Given the description of an element on the screen output the (x, y) to click on. 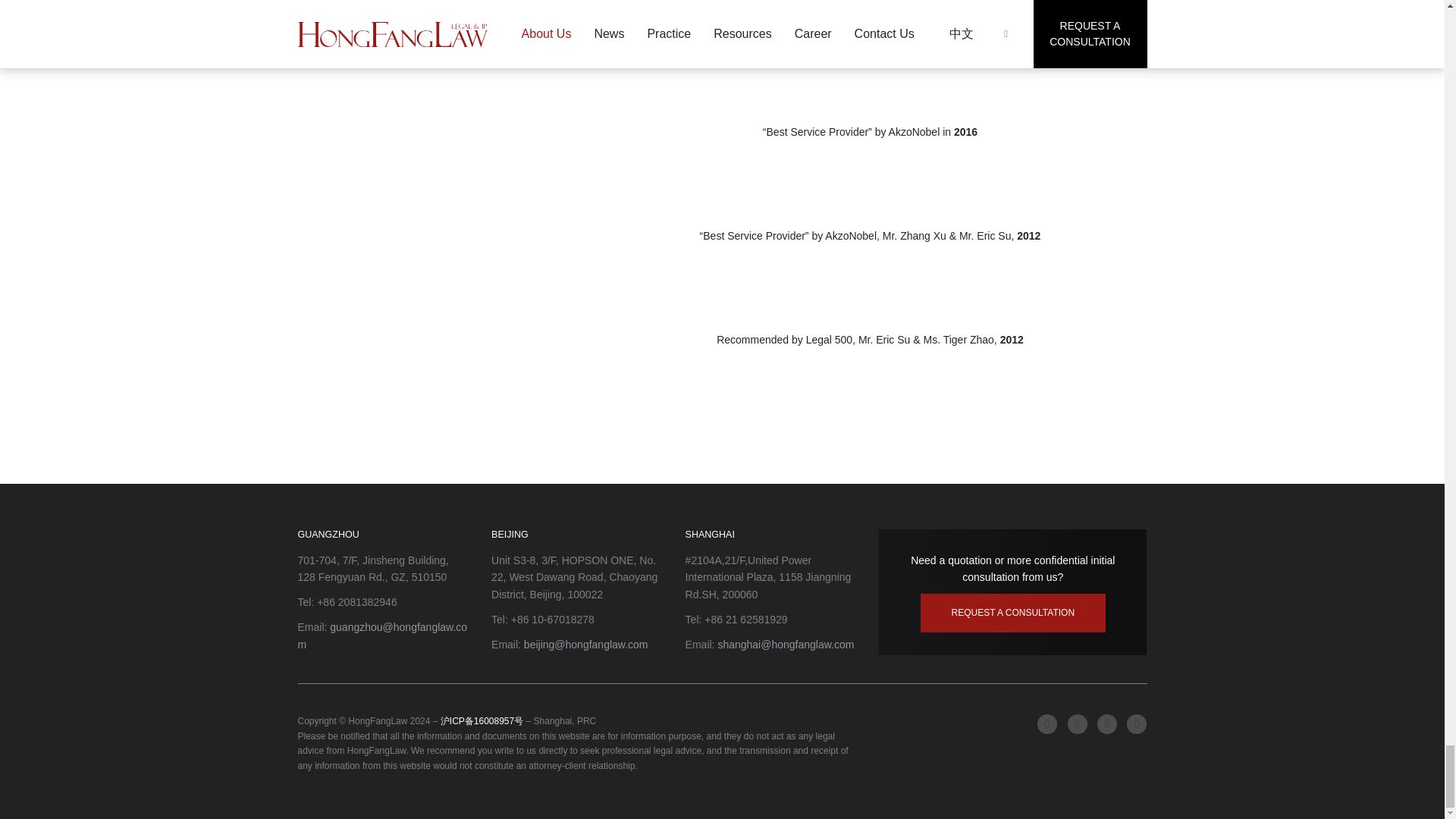
Request a consultation (1012, 612)
